Given the description of an element on the screen output the (x, y) to click on. 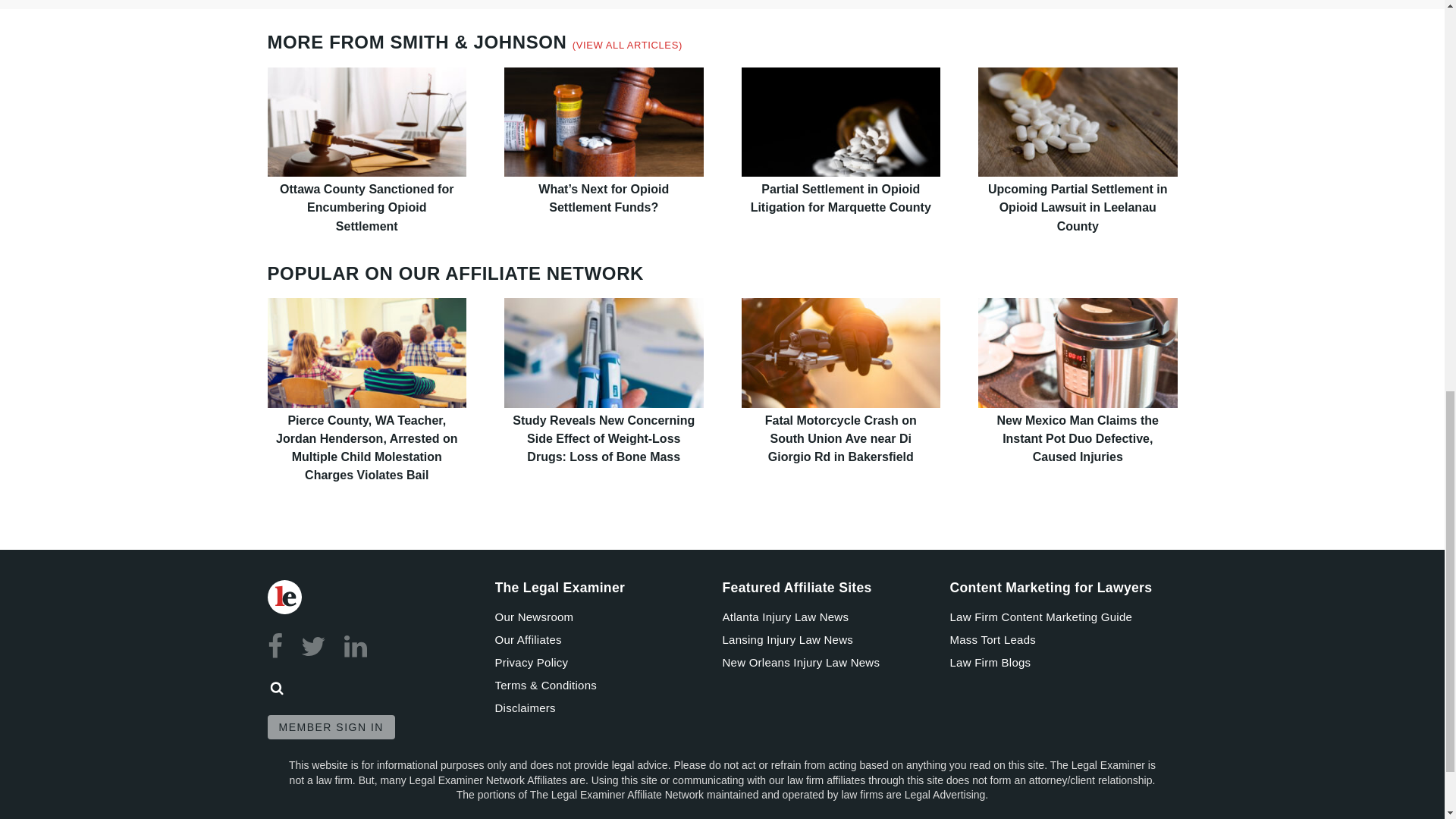
Ottawa County Sanctioned for Encumbering Opioid Settlement (365, 121)
Partial Settlement in Opioid Litigation for Marquette County (840, 121)
Ottawa County Sanctioned for Encumbering Opioid Settlement (365, 206)
Legal Examiner on Twitter (313, 646)
